Given the description of an element on the screen output the (x, y) to click on. 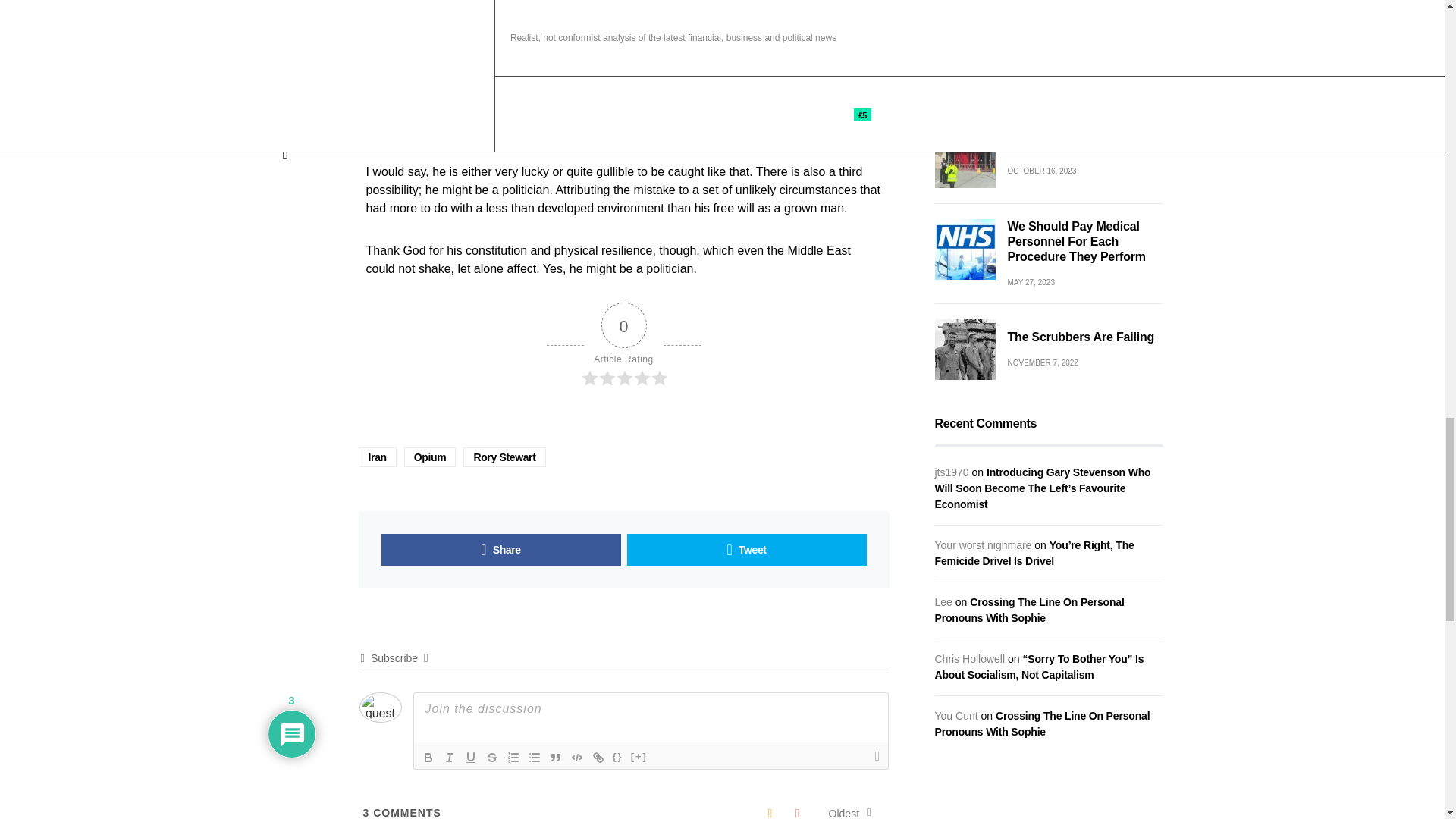
Unordered List (533, 757)
Code Block (576, 757)
Strike (491, 757)
Blockquote (555, 757)
Underline (470, 757)
Ordered List (512, 757)
Italic (449, 757)
Bold (427, 757)
